Given the description of an element on the screen output the (x, y) to click on. 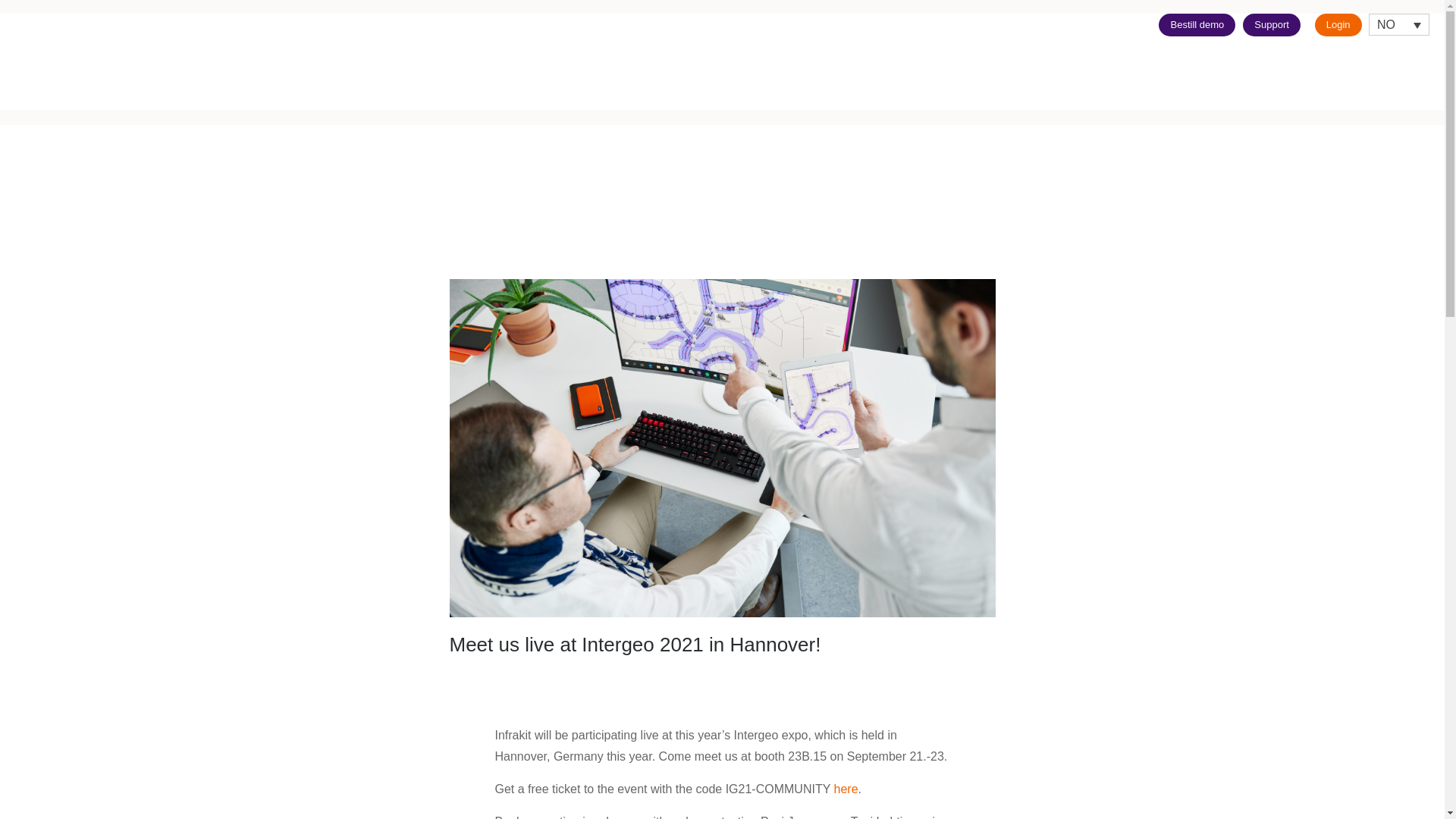
Support (1271, 24)
NO (1398, 24)
Bestill demo (1196, 24)
Login (1337, 24)
